Given the description of an element on the screen output the (x, y) to click on. 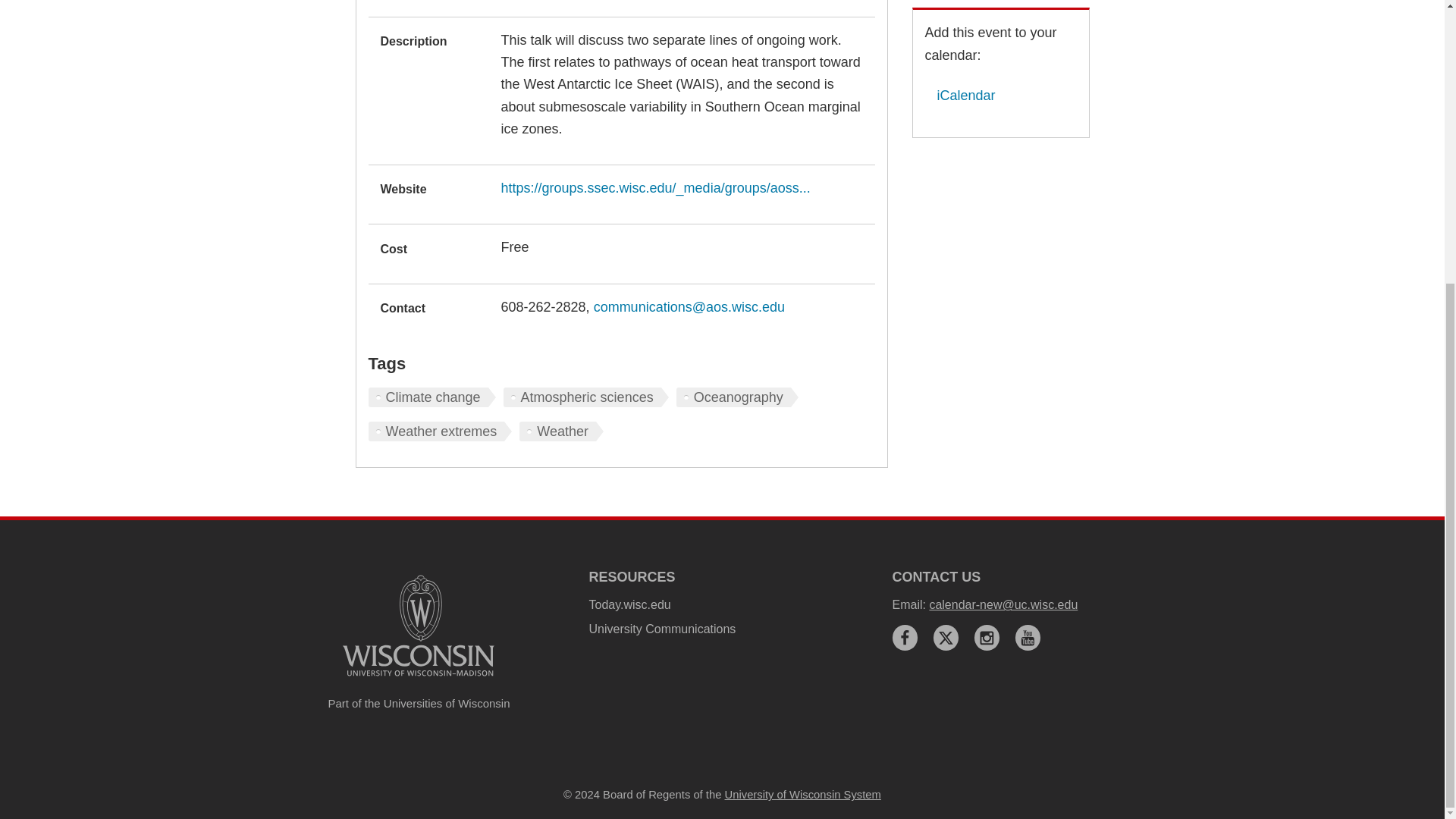
Oceanography (737, 397)
Weather (561, 431)
Atmospheric sciences (585, 397)
Climate change (432, 397)
608-262-2828 (542, 306)
Weather extremes (440, 431)
